Given the description of an element on the screen output the (x, y) to click on. 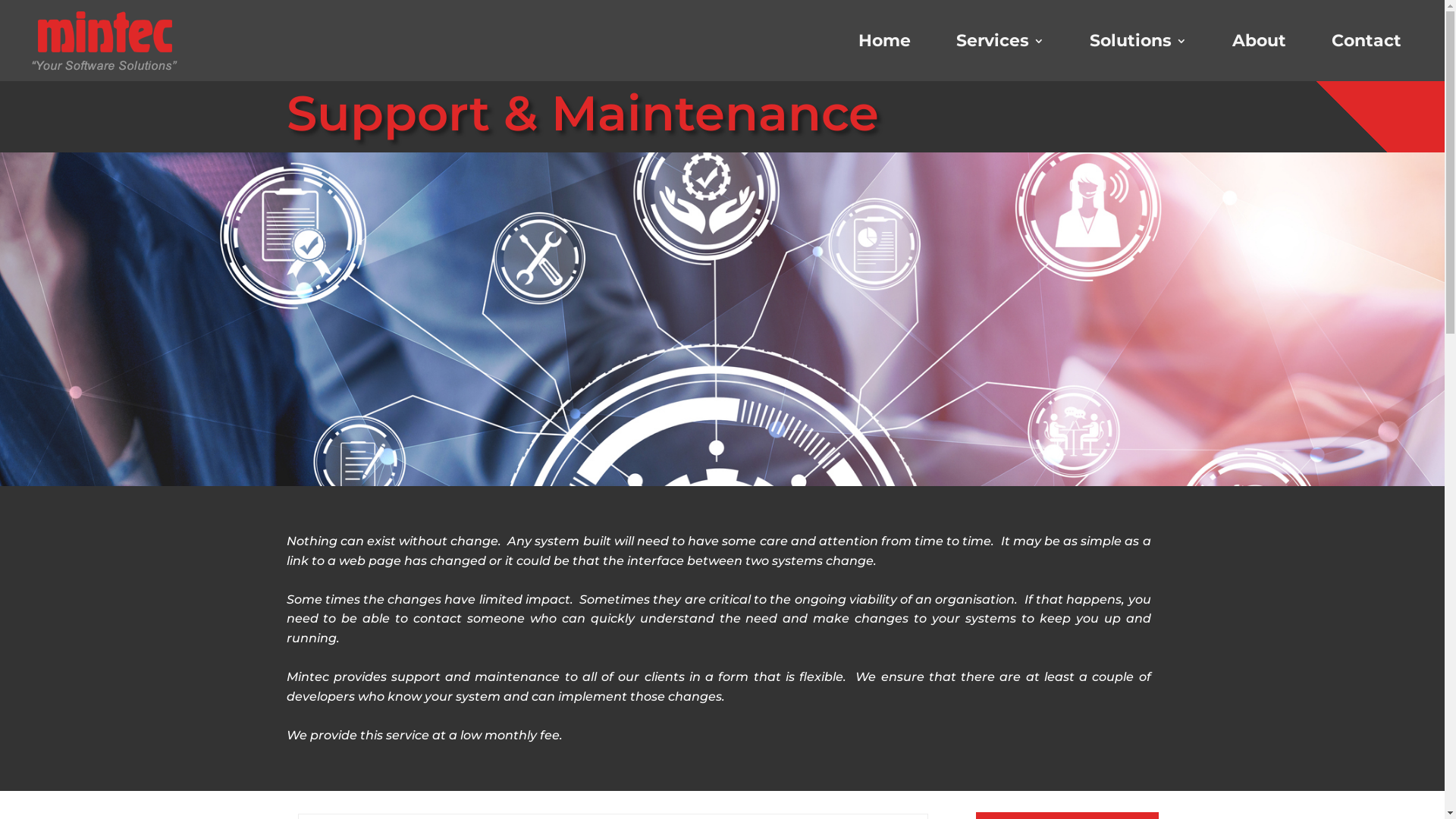
Solutions Element type: text (1137, 40)
Home Element type: text (884, 40)
Contact Element type: text (1366, 40)
Services Element type: text (1000, 40)
About Element type: text (1259, 40)
